Given the description of an element on the screen output the (x, y) to click on. 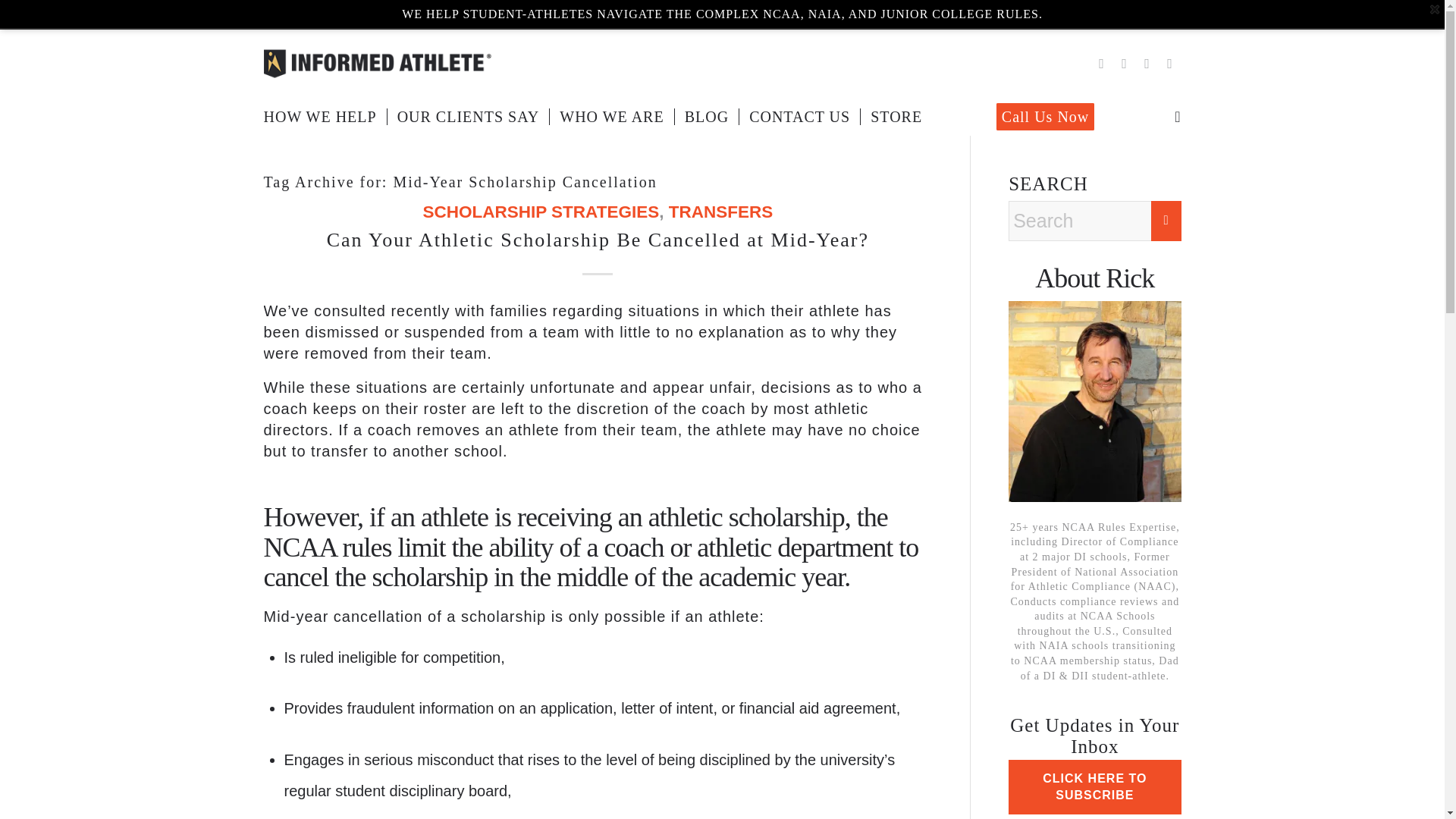
Youtube (1169, 63)
CONTACT US (799, 116)
WHO WE ARE (610, 116)
X (1101, 63)
STORE (895, 116)
HOW WE HELP (325, 116)
Facebook (1124, 63)
SCHOLARSHIP STRATEGIES (540, 211)
Call Us Now (1049, 116)
TRANSFERS (720, 211)
CLICK HERE TO SUBSCRIBE (1094, 786)
logo2 (377, 63)
OUR CLIENTS SAY (468, 116)
LinkedIn (1146, 63)
